Given the description of an element on the screen output the (x, y) to click on. 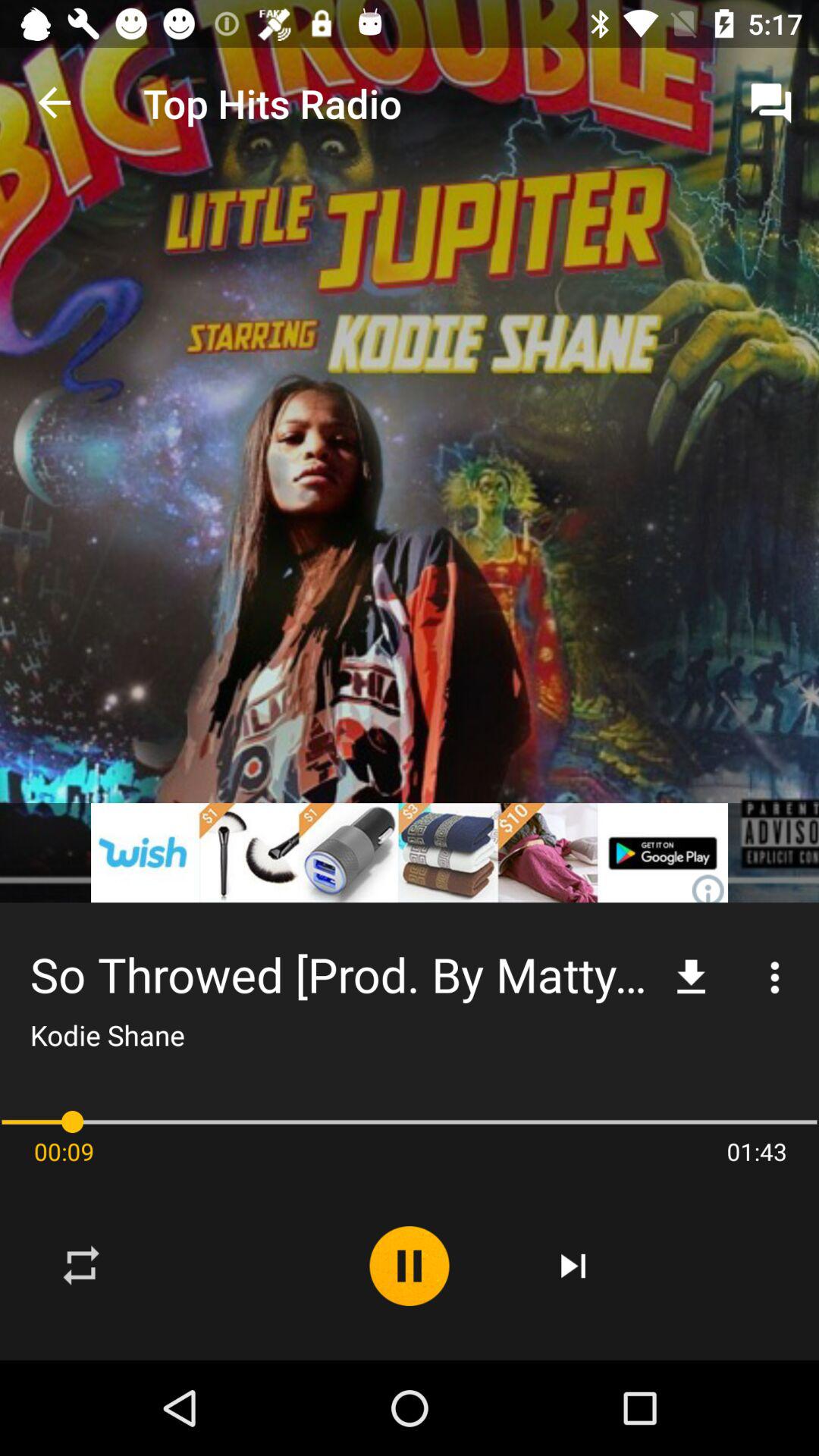
choose the item to the left of the 01:43 icon (573, 1265)
